Given the description of an element on the screen output the (x, y) to click on. 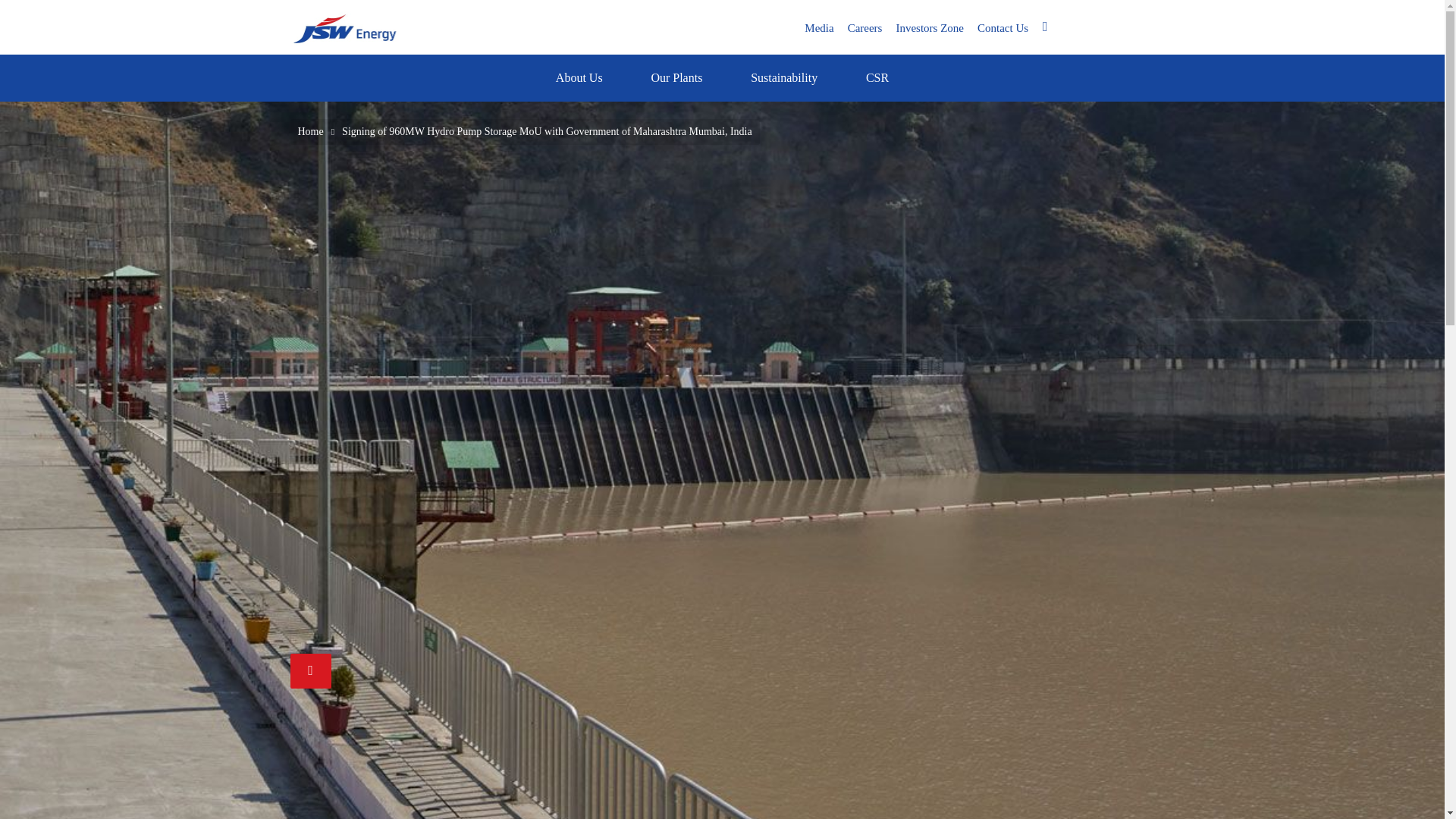
Careers (865, 27)
Sustainability (783, 77)
About Us (579, 77)
Our Plants (675, 77)
Home (370, 27)
CSR (877, 77)
Investors Zone (929, 27)
